Given the description of an element on the screen output the (x, y) to click on. 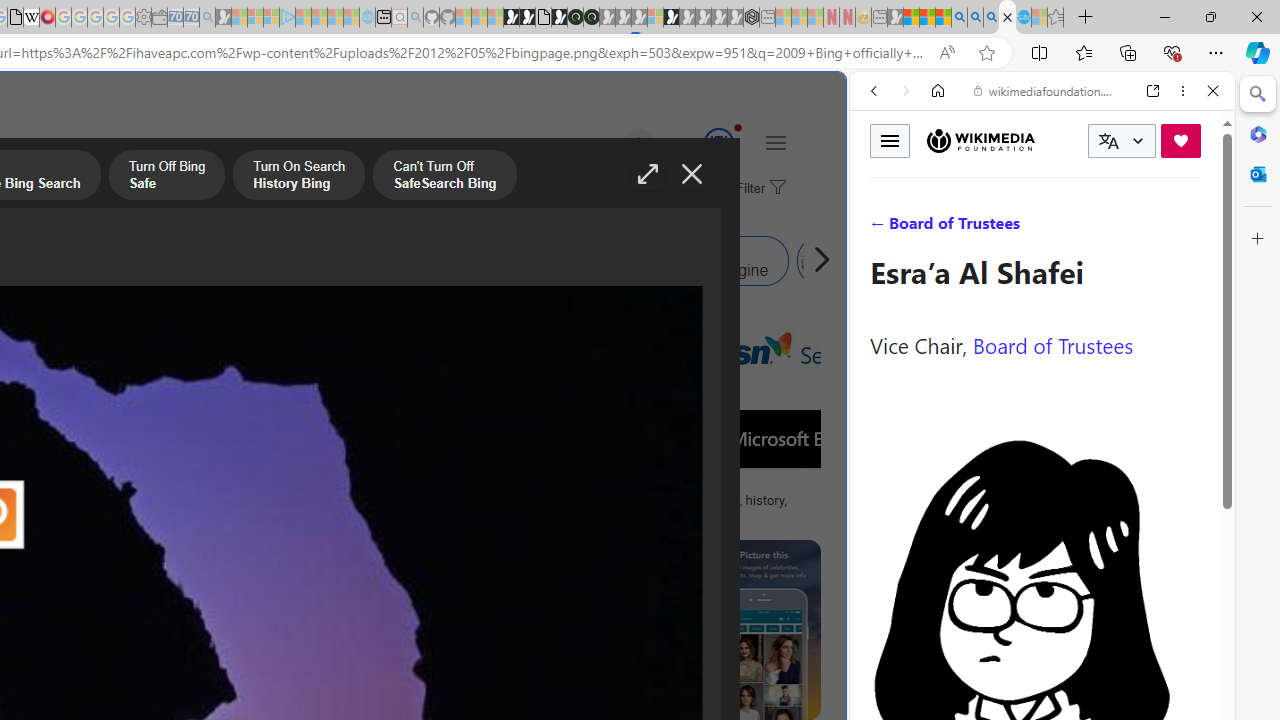
Wikimedia Foundation (980, 140)
Technology History timeline | Timetoast timelines (185, 508)
Full screen (648, 173)
Wiktionary (1034, 669)
Toggle menu (890, 140)
Technology History timeline | Timetoast timelines (185, 508)
2009 Bing officially replaced Live Search on June 3 - Search (975, 17)
